Given the description of an element on the screen output the (x, y) to click on. 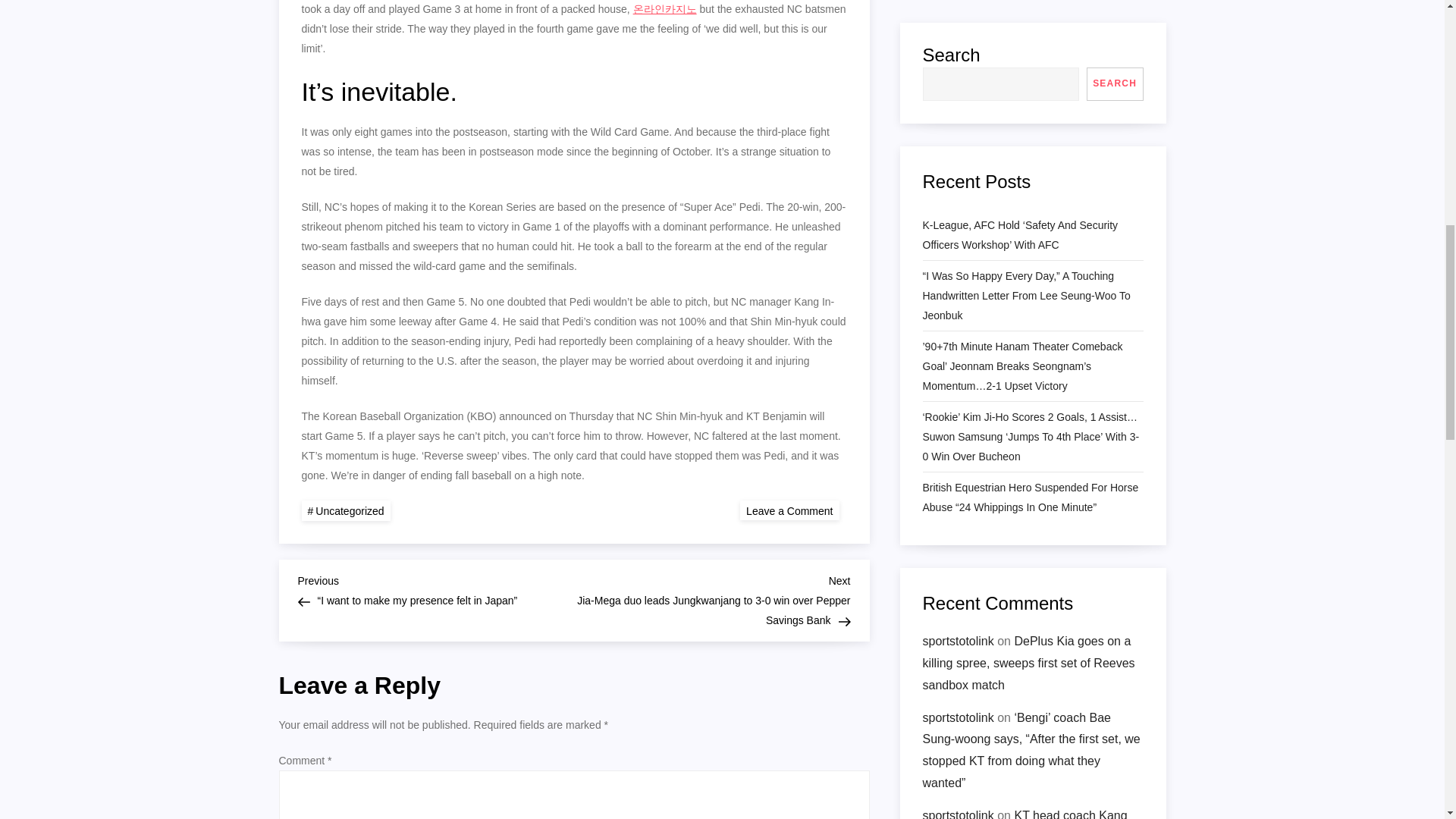
casinosite (948, 317)
sportstotolink (956, 143)
casinosite (948, 241)
Uncategorized (345, 510)
sportstotolink (788, 510)
